Given the description of an element on the screen output the (x, y) to click on. 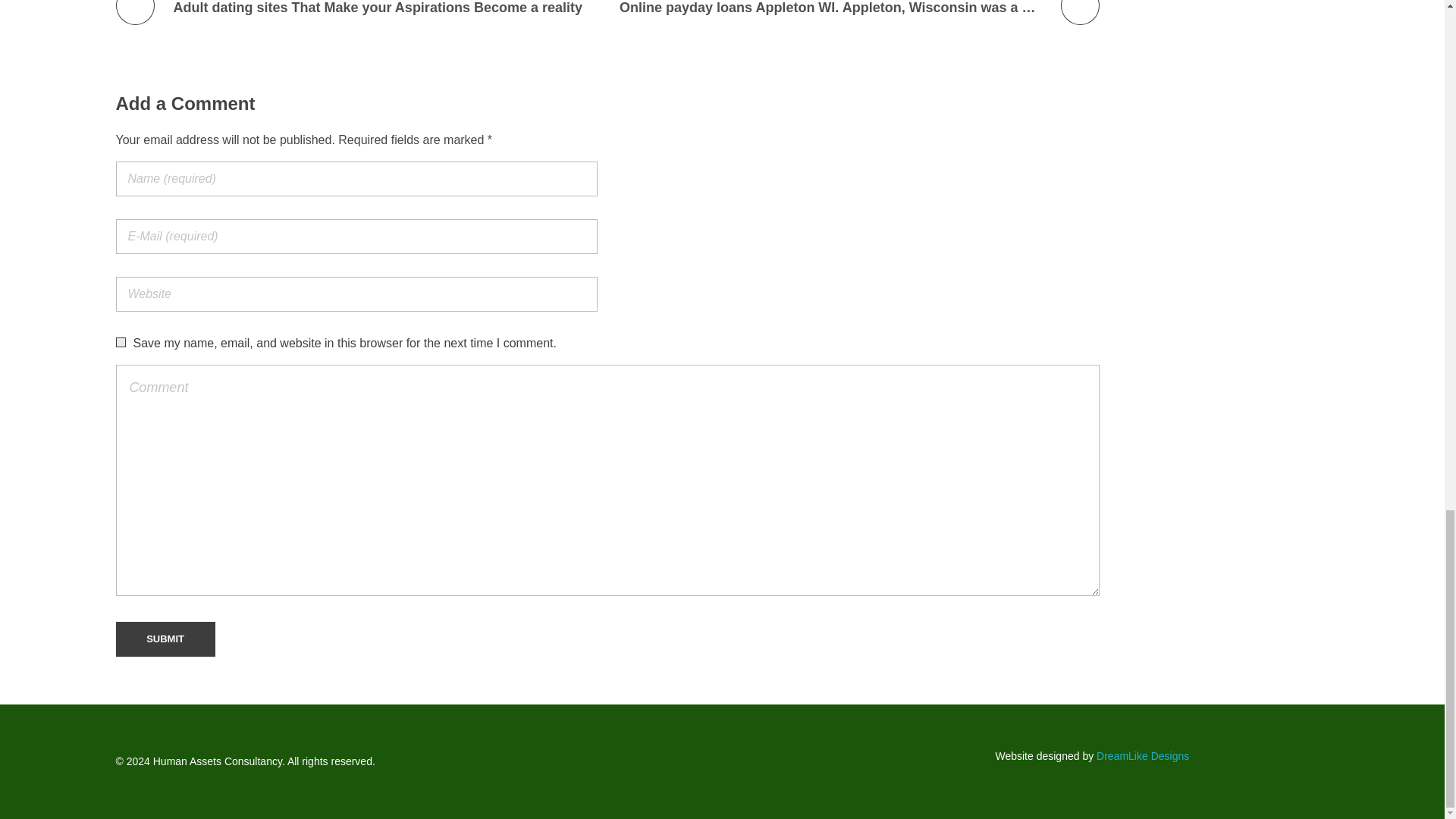
Submit (164, 638)
Submit (164, 638)
DreamLike Designs (1142, 756)
yes (120, 342)
